Given the description of an element on the screen output the (x, y) to click on. 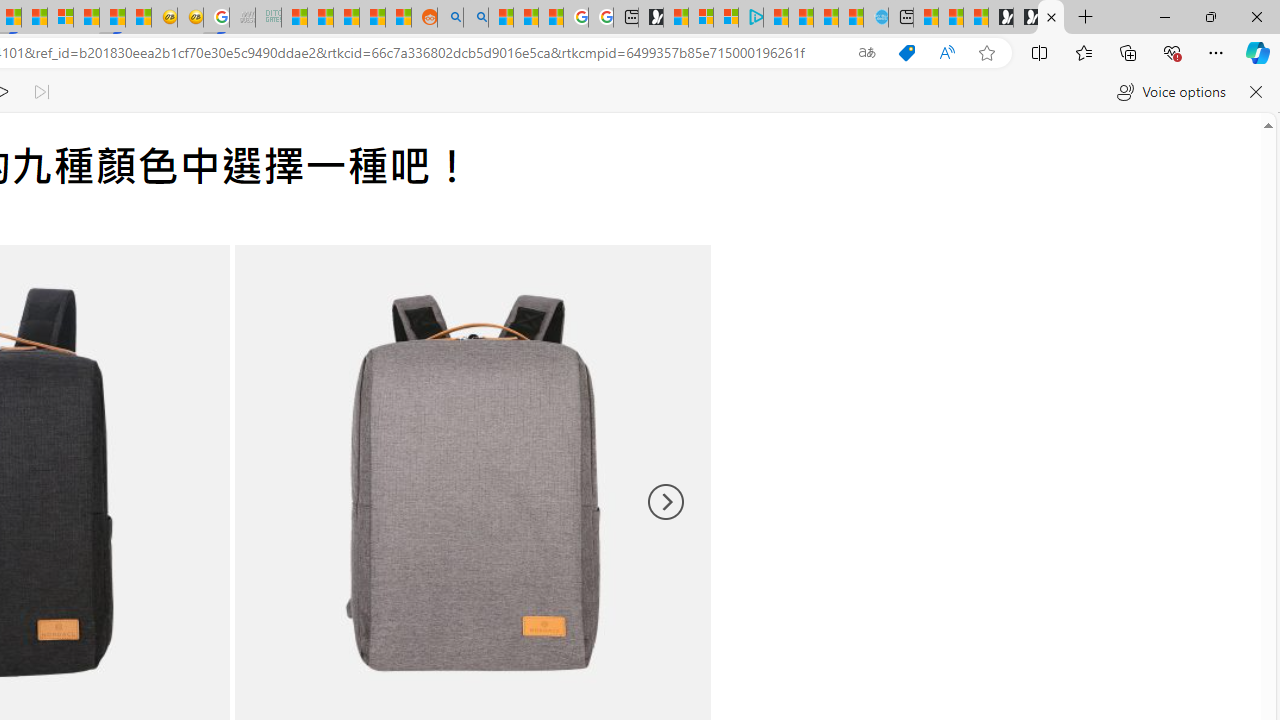
Browser essentials (1171, 52)
Restore (1210, 16)
Home | Sky Blue Bikes - Sky Blue Bikes (876, 17)
Collections (1128, 52)
Utah sues federal government - Search (475, 17)
Voice options (1170, 92)
Read next paragraph (40, 92)
14 Common Myths Debunked By Scientific Facts (34, 17)
This site has coupons! Shopping in Microsoft Edge (906, 53)
Microsoft Start (826, 17)
Play Free Online Games | Games from Microsoft Start (1025, 17)
